Given the description of an element on the screen output the (x, y) to click on. 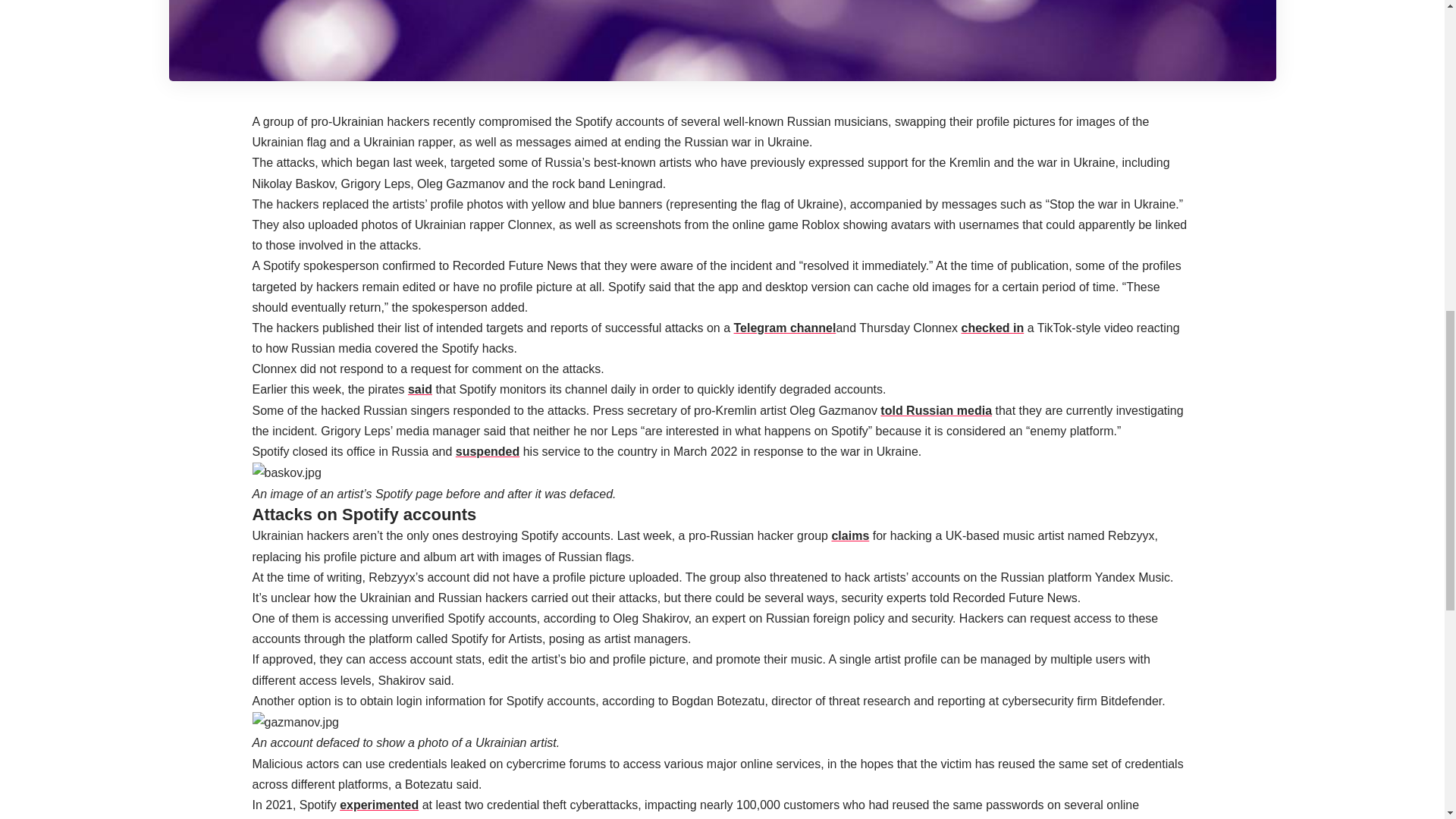
Telegram channel (784, 327)
said (419, 389)
experimented (379, 804)
claims (850, 535)
checked in (992, 327)
told Russian media (935, 410)
suspended (487, 451)
